Given the description of an element on the screen output the (x, y) to click on. 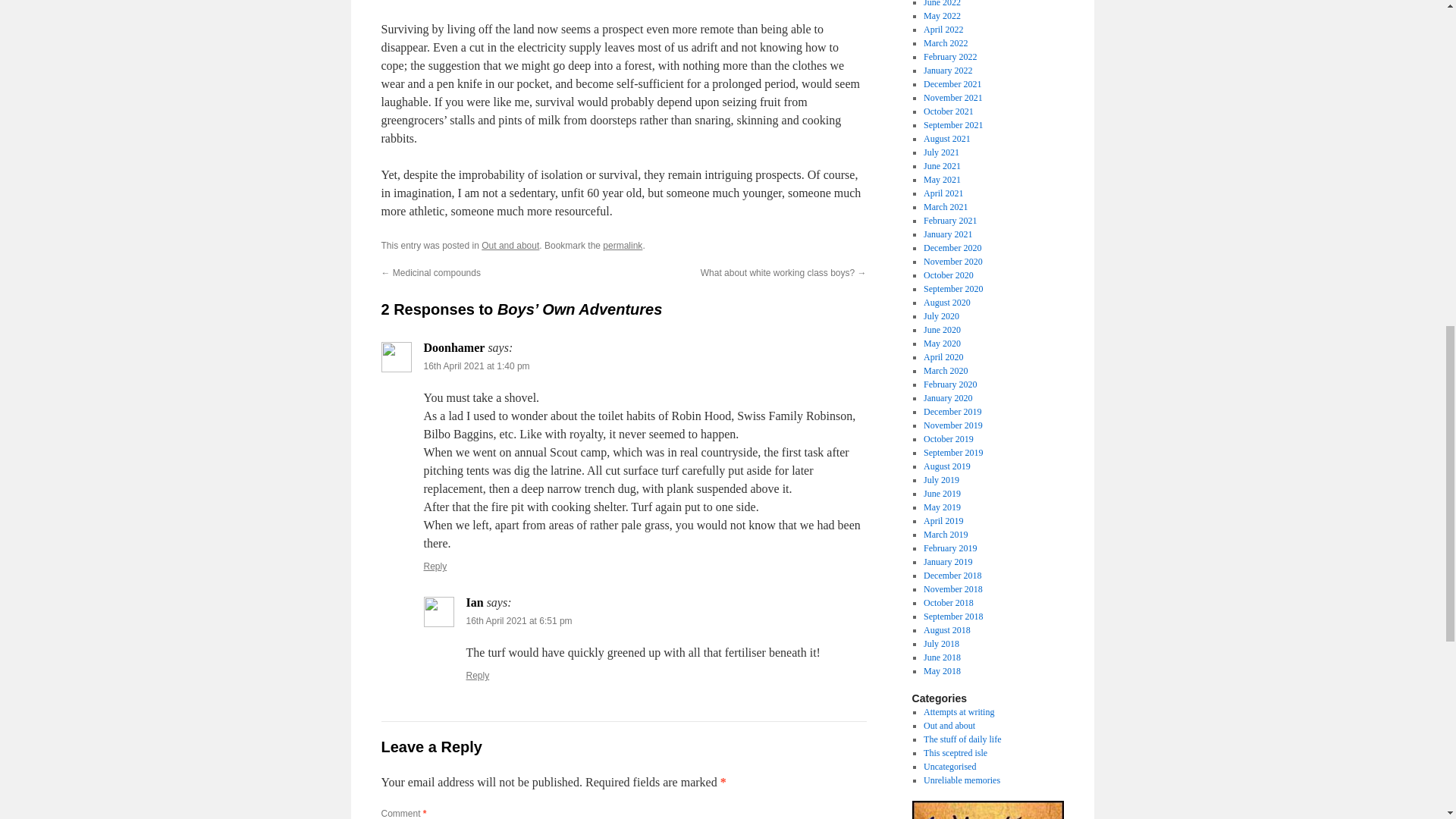
Reply (434, 566)
permalink (622, 245)
16th April 2021 at 1:40 pm (476, 366)
16th April 2021 at 6:51 pm (518, 620)
Reply (477, 675)
Out and about (509, 245)
